Given the description of an element on the screen output the (x, y) to click on. 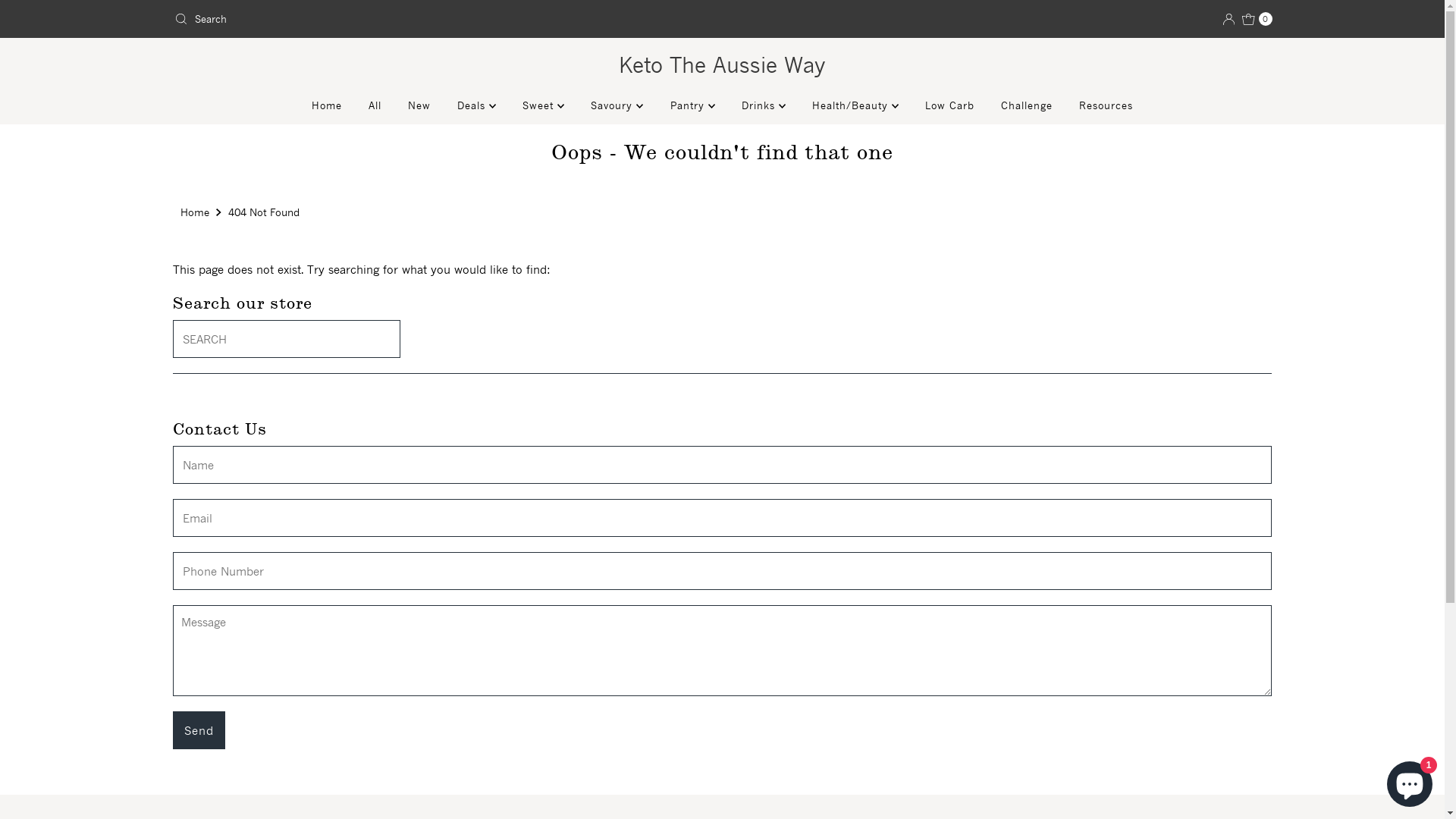
All Element type: text (374, 105)
Challenge Element type: text (1026, 105)
Search our store Element type: hover (441, 18)
New Element type: text (419, 105)
Keto The Aussie Way Element type: text (721, 65)
Search our store Element type: hover (286, 338)
Resources Element type: text (1105, 105)
Home Element type: text (326, 105)
Shopify online store chat Element type: hover (1409, 780)
Low Carb Element type: text (949, 105)
Home Element type: text (196, 211)
0 Element type: text (1257, 18)
Send Element type: text (198, 730)
